Given the description of an element on the screen output the (x, y) to click on. 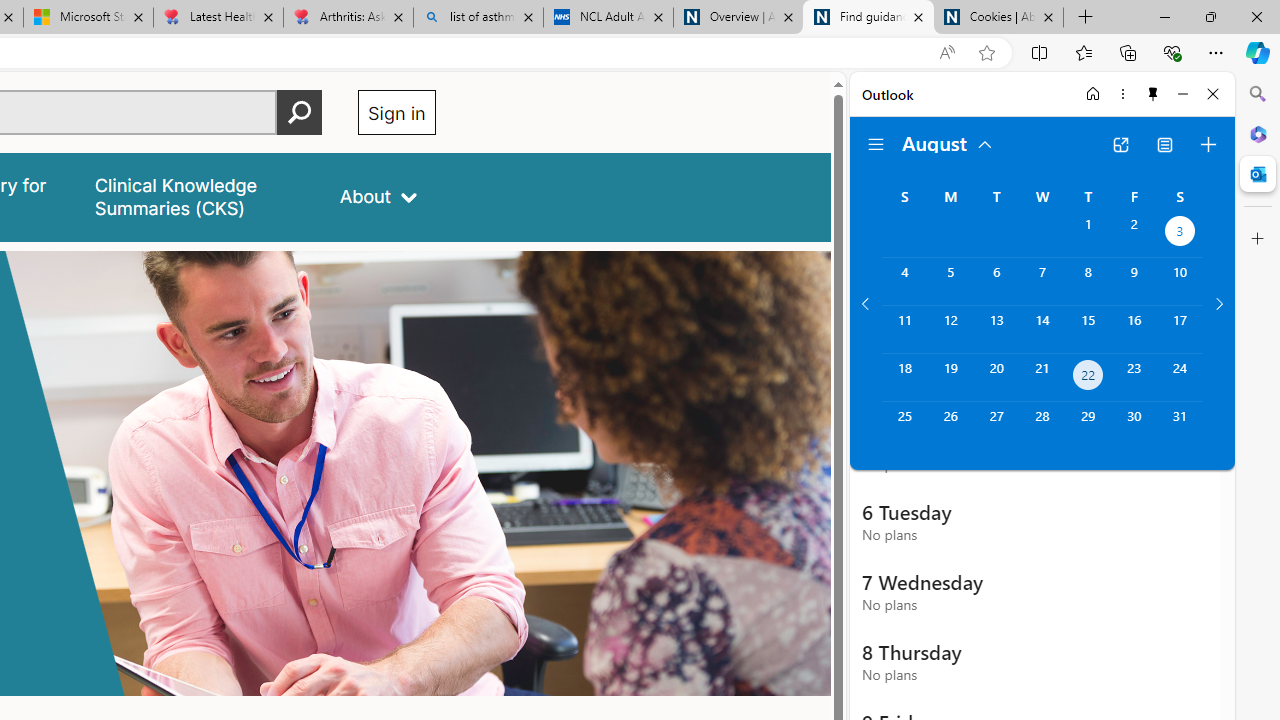
Thursday, August 22, 2024. Today.  (1088, 377)
Thursday, August 8, 2024.  (1088, 281)
Tuesday, August 27, 2024.  (996, 425)
Home (1093, 93)
Microsoft 365 (1258, 133)
Monday, August 12, 2024.  (950, 329)
Saturday, August 31, 2024.  (1180, 425)
Perform search (299, 112)
Search (1258, 94)
Sunday, August 18, 2024.  (904, 377)
Saturday, August 24, 2024.  (1180, 377)
Sunday, August 4, 2024.  (904, 281)
